Given the description of an element on the screen output the (x, y) to click on. 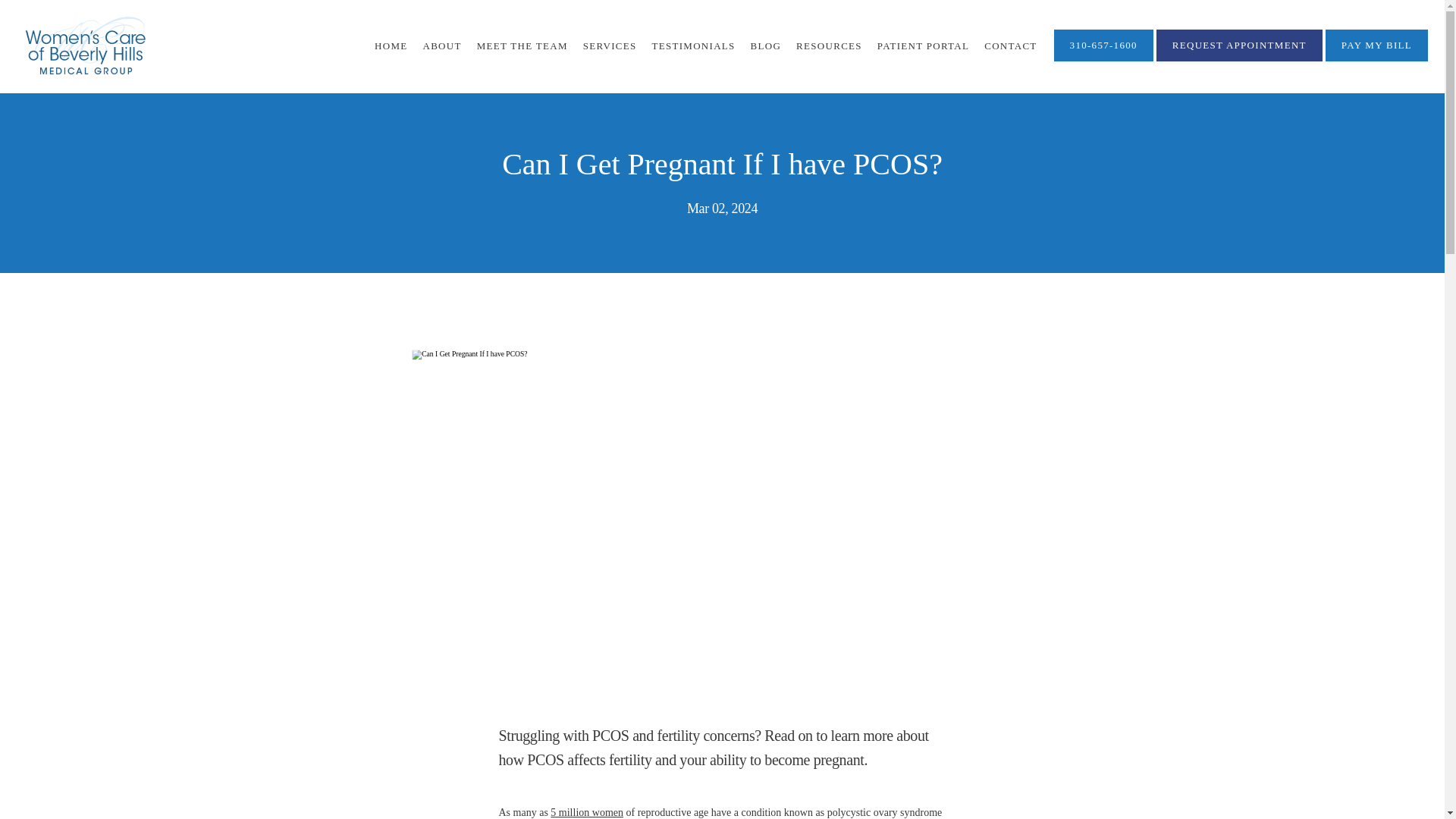
HOME (390, 45)
MEET THE TEAM (522, 45)
PATIENT PORTAL (923, 45)
310-657-1600 (1103, 59)
PAY MY BILL (1376, 59)
TESTIMONIALS (692, 45)
REQUEST APPOINTMENT (1238, 59)
CONTACT (1010, 45)
SERVICES (610, 45)
ABOUT (441, 45)
BLOG (766, 45)
